Given the description of an element on the screen output the (x, y) to click on. 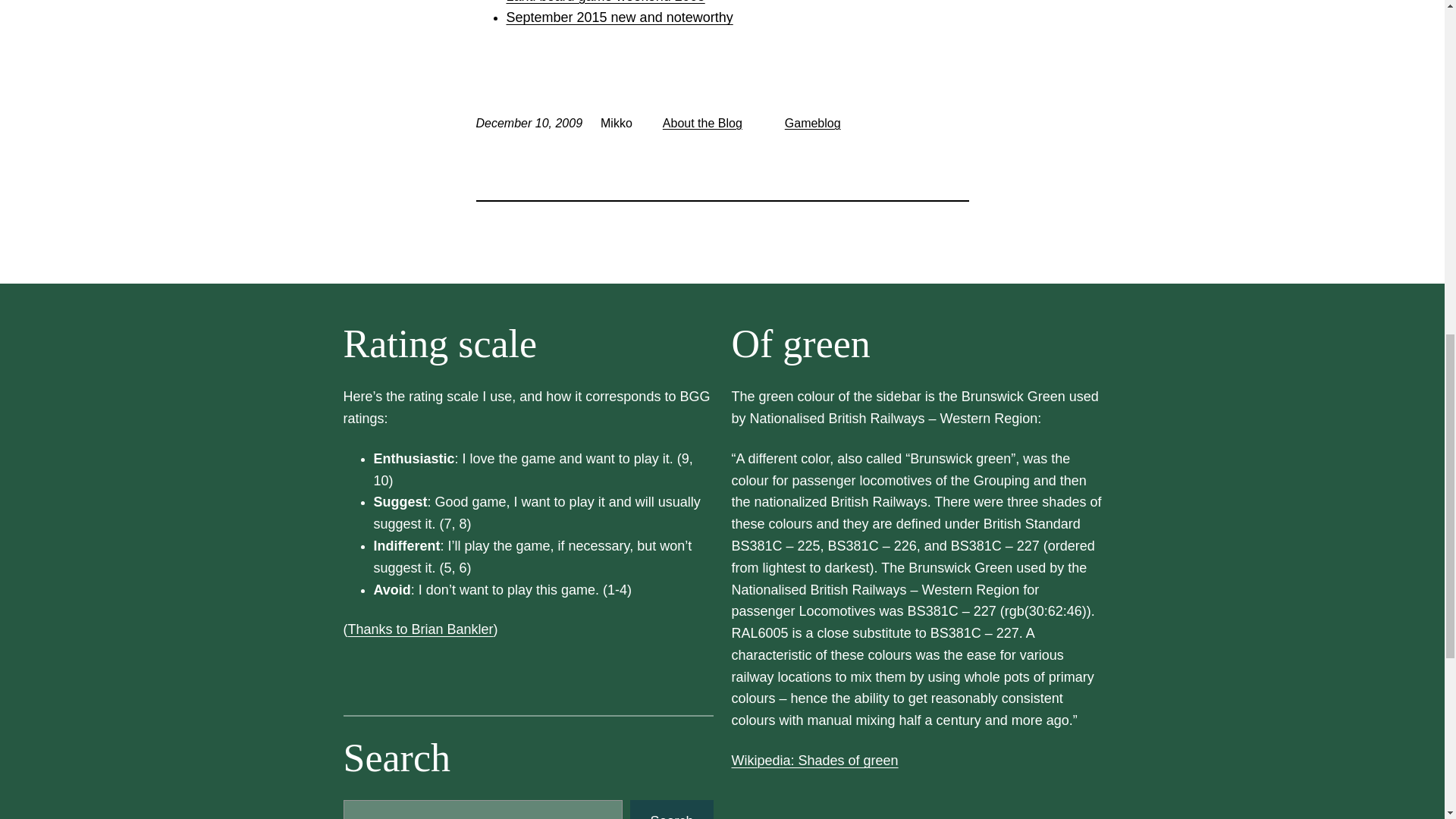
Lahti board game weekend 2005 (605, 2)
About the Blog (702, 123)
Wikipedia: Shades of green (814, 760)
April 4, 2005 (605, 2)
Search (671, 809)
Gameblog (812, 123)
Thanks to Brian Bankler (420, 629)
September 2015 new and noteworthy (619, 17)
September 30, 2015 (619, 17)
